Given the description of an element on the screen output the (x, y) to click on. 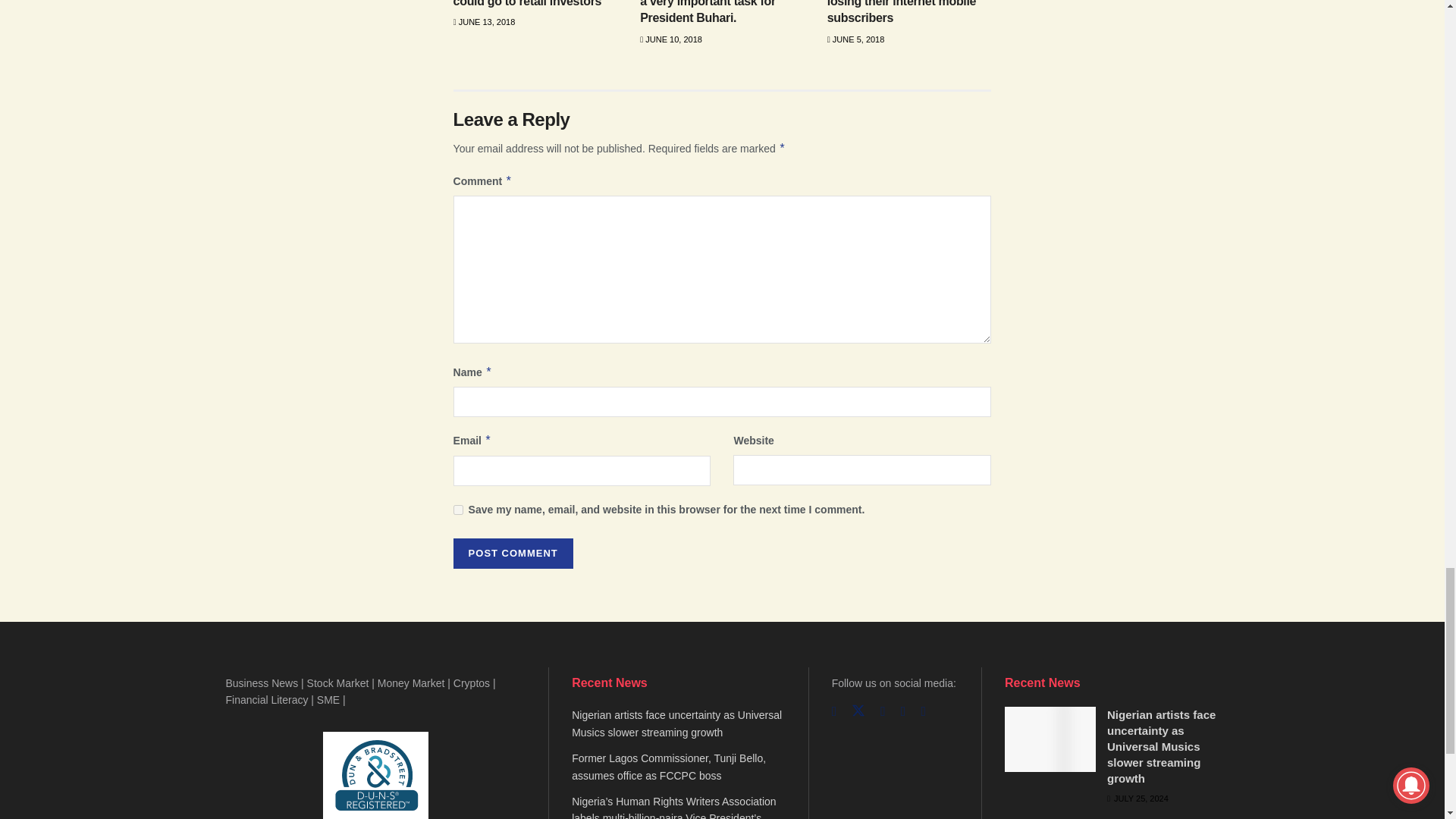
Post Comment (512, 553)
yes (457, 510)
